Given the description of an element on the screen output the (x, y) to click on. 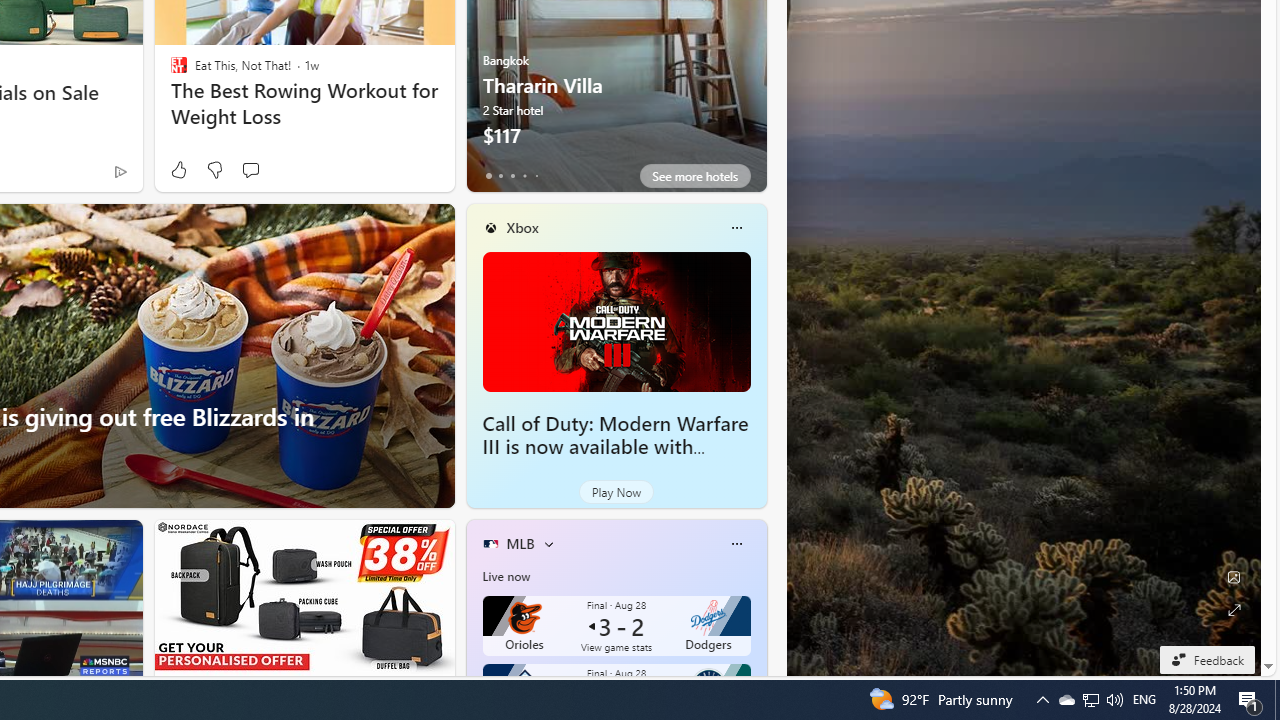
Start the conversation (250, 169)
tab-2 (511, 175)
See more hotels (694, 175)
Start the conversation (249, 170)
next (756, 39)
Feedback (1206, 659)
tab-1 (500, 175)
Expand background (1233, 610)
More interests (548, 543)
